Given the description of an element on the screen output the (x, y) to click on. 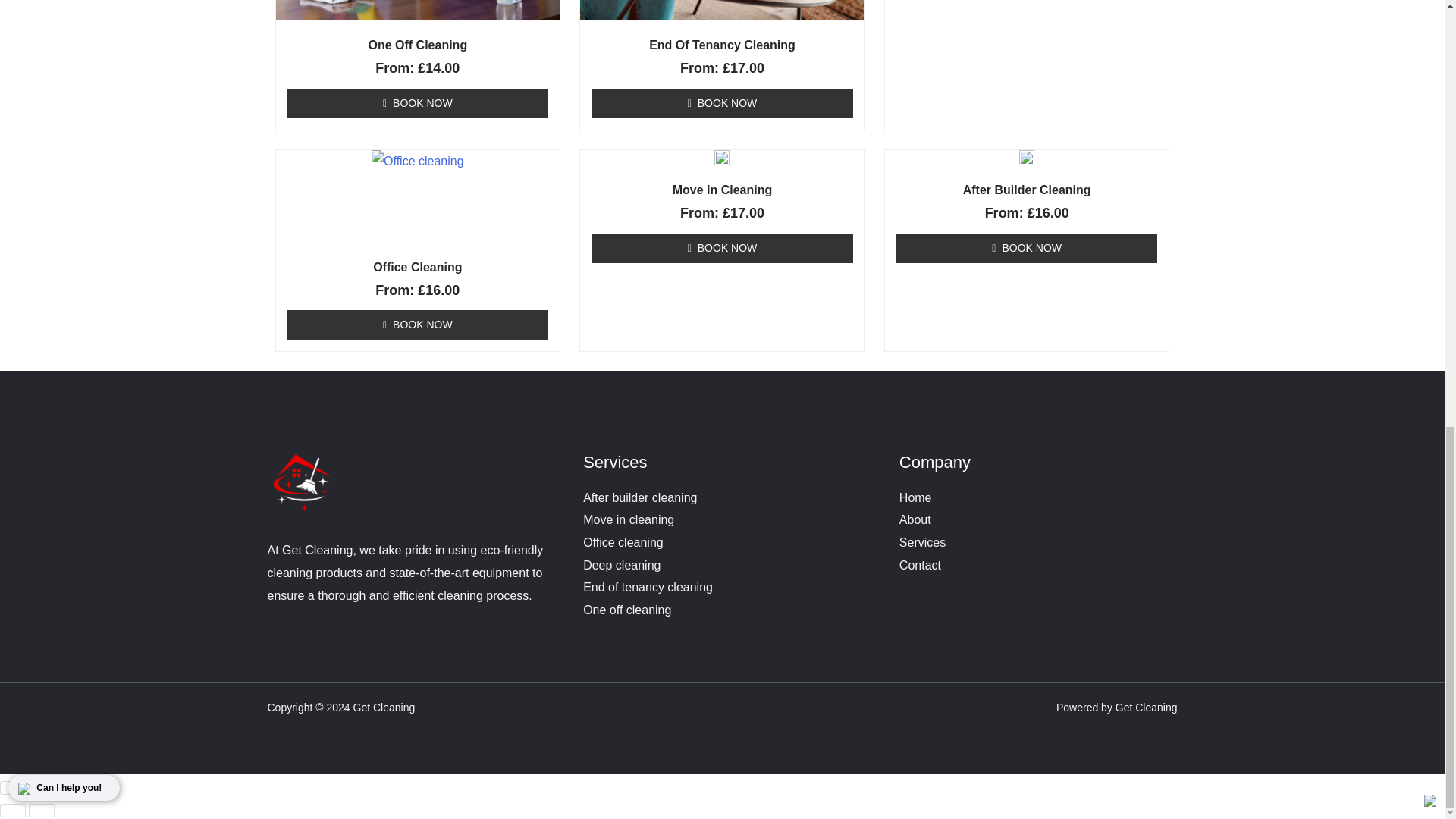
Office Cleaning (418, 312)
Move in cleaning (628, 564)
BOOK NOW (722, 369)
About (915, 564)
Home (915, 542)
After Builder Cleaning (1027, 312)
One off cleaning (627, 654)
After builder cleaning (640, 542)
Move In Cleaning (721, 312)
BOOK NOW (417, 369)
